Given the description of an element on the screen output the (x, y) to click on. 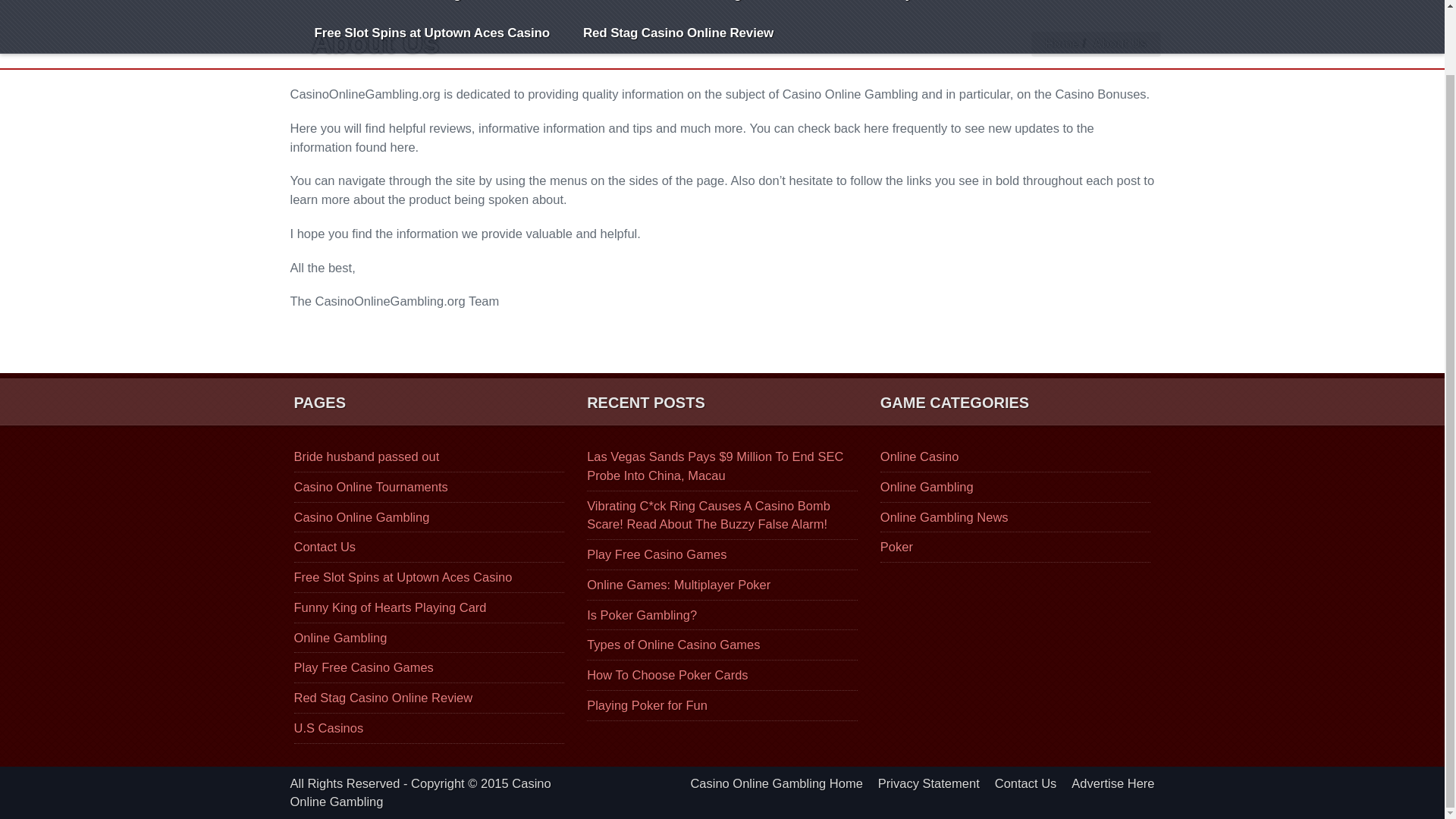
Play Free Casino Games (965, 7)
Casino Online Tournaments (371, 486)
Bride husband passed out (366, 456)
Red Stag Casino Online Review (678, 33)
Free Slot Spins at Uptown Aces Casino (403, 576)
Casino Online Gambling Home (406, 7)
Playing Poker for Fun (646, 704)
Red Stag Casino Online Review (383, 697)
U.S Casinos (329, 727)
Play Free Casino Games (363, 667)
